Given the description of an element on the screen output the (x, y) to click on. 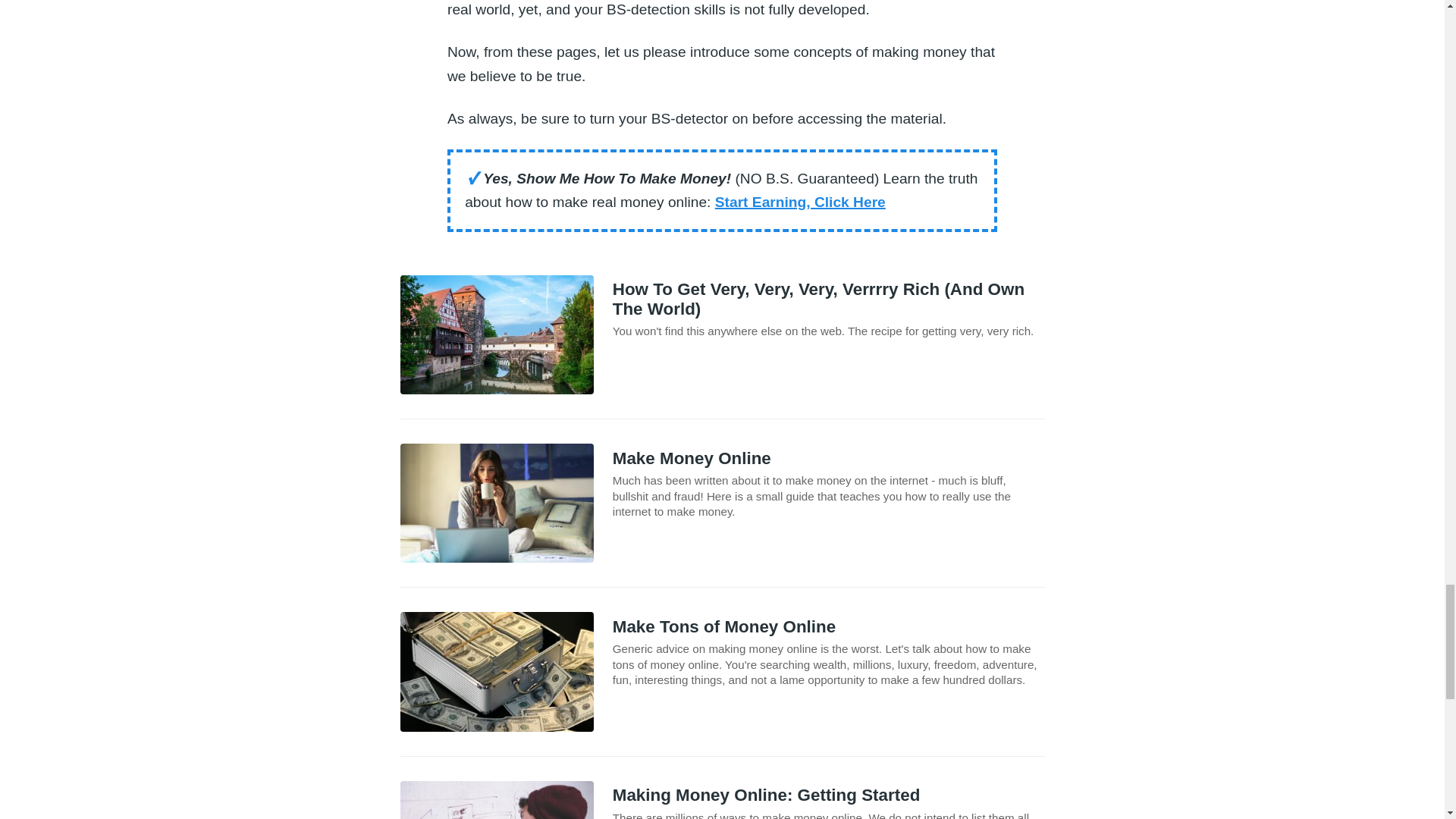
Start Earning, Click Here (799, 201)
